Given the description of an element on the screen output the (x, y) to click on. 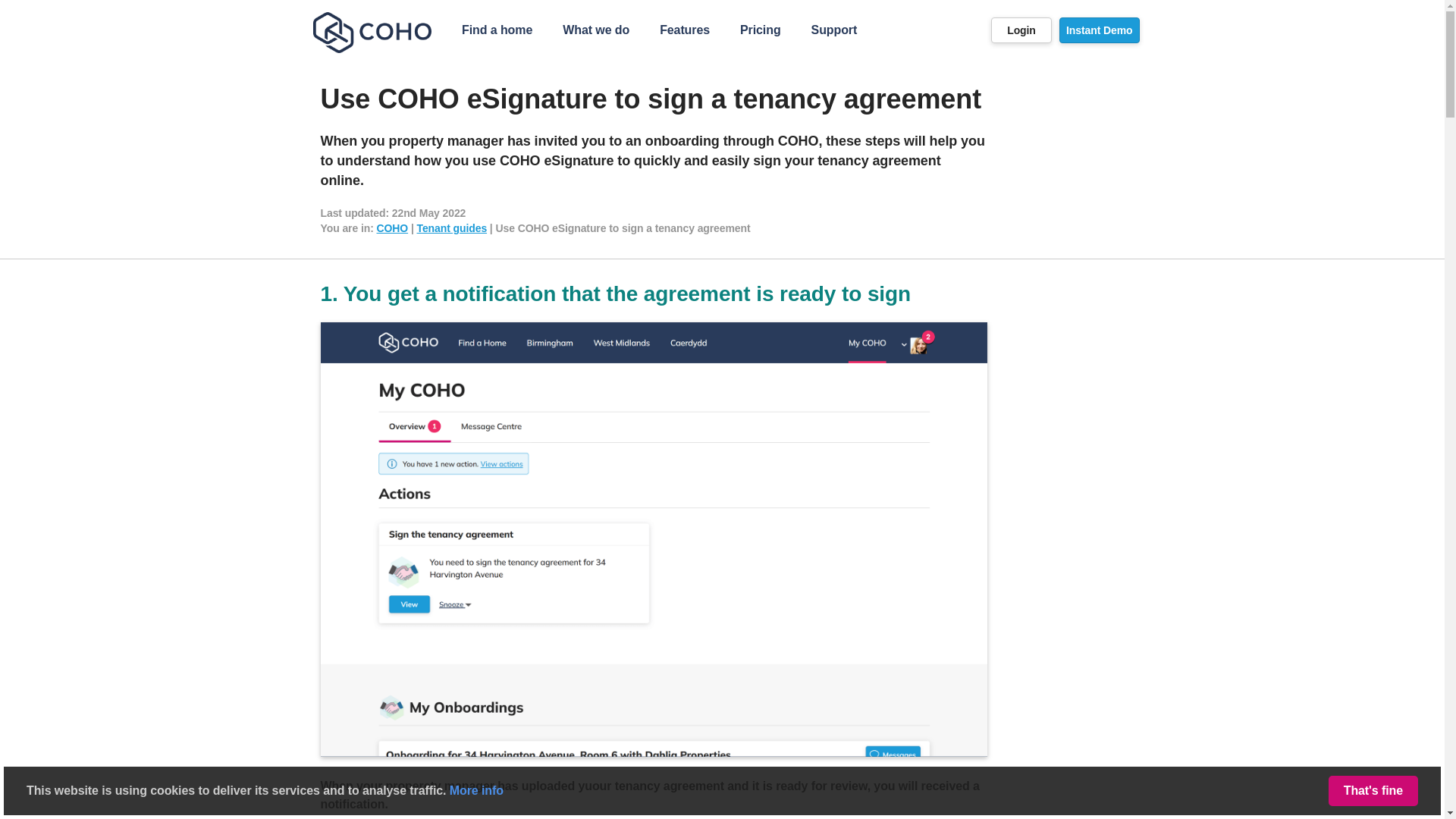
Find a home (496, 30)
Instant Demo (1098, 30)
What we do (596, 30)
COHO (391, 227)
Features (685, 30)
Login (1021, 30)
Pricing (760, 30)
Tenant guides (451, 227)
Support (834, 30)
